Given the description of an element on the screen output the (x, y) to click on. 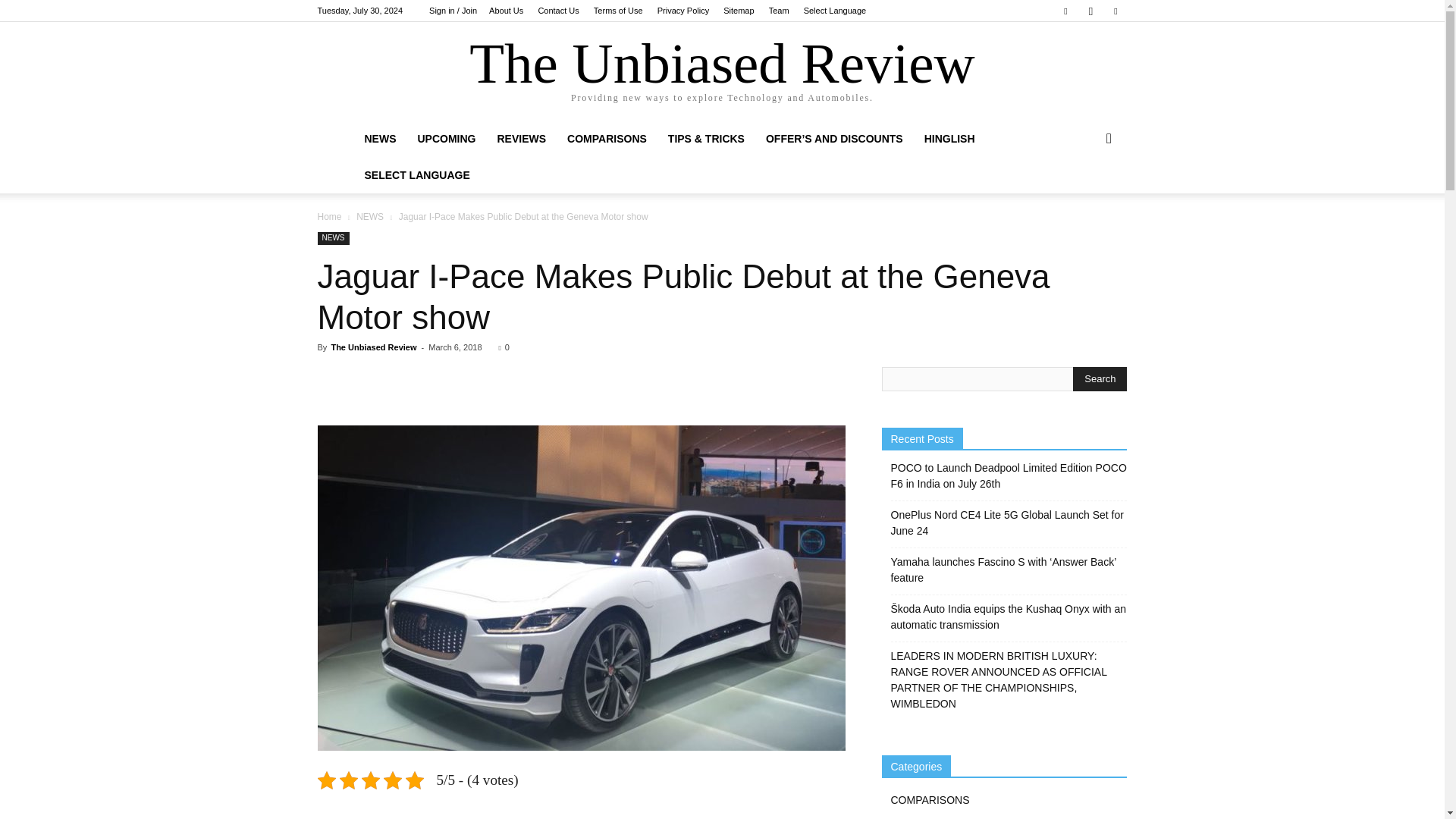
Privacy Policy (683, 10)
Twitter (1114, 10)
Facebook (1065, 10)
Team (778, 10)
NEWS (379, 138)
Search (1099, 378)
Contact Us (557, 10)
Instagram (1090, 10)
About Us (505, 10)
